Given the description of an element on the screen output the (x, y) to click on. 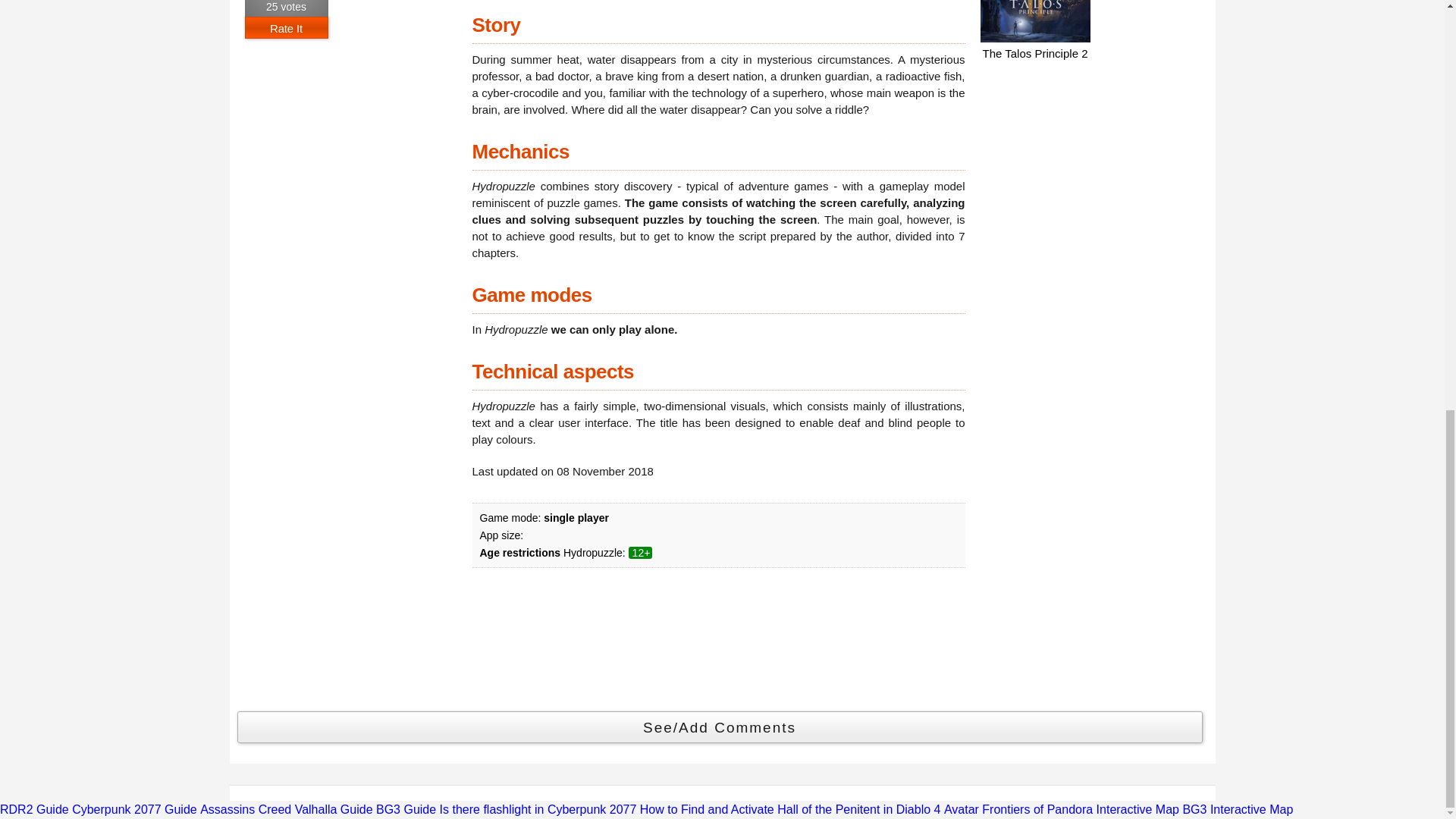
3rd party ad content (1093, 164)
